Given the description of an element on the screen output the (x, y) to click on. 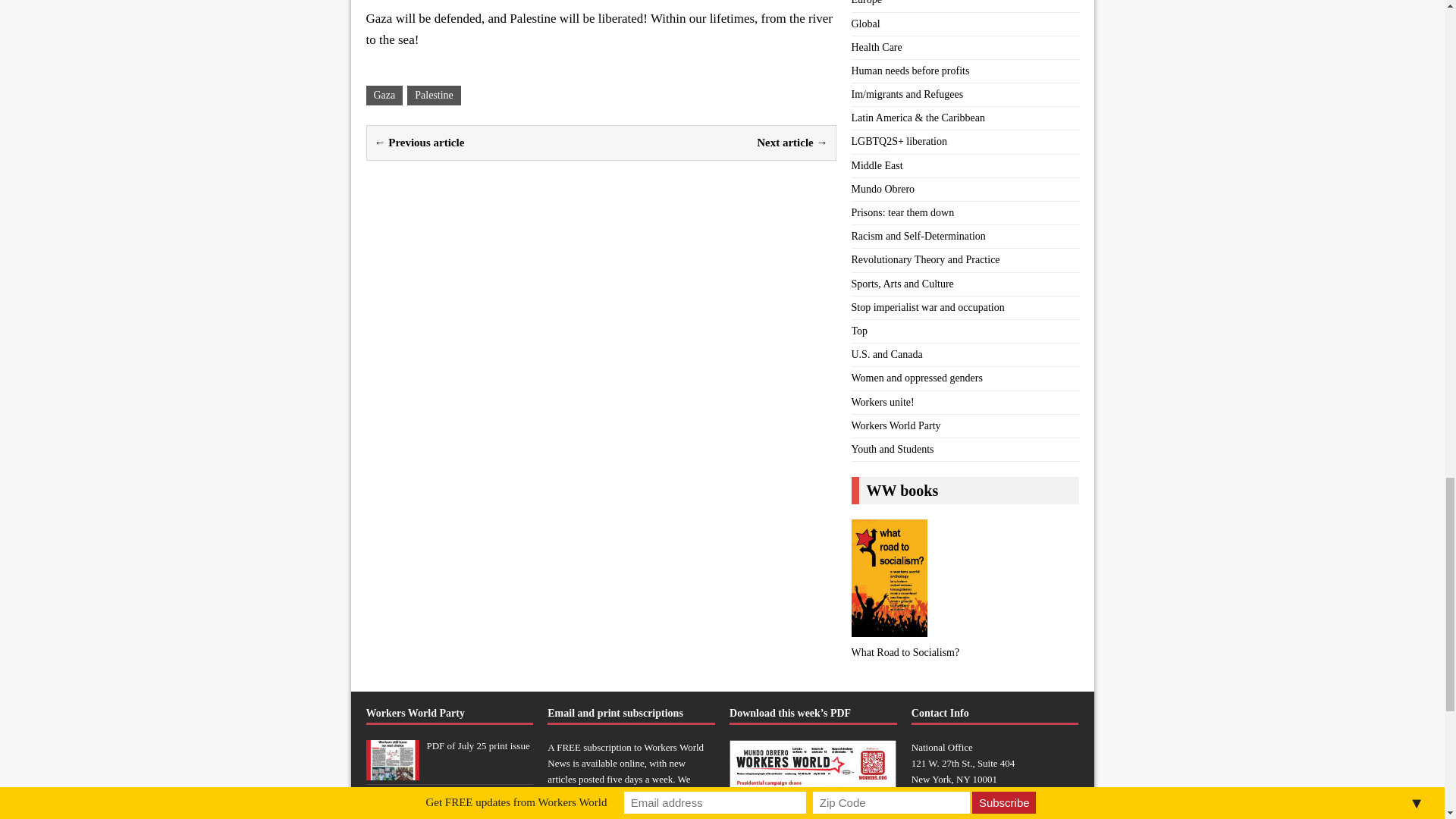
PDF of July 25 print issue (477, 745)
PDF of July 18 iisue (466, 794)
PDF of July 18 iisue (392, 816)
PDF of July 25 print issue (392, 771)
